Given the description of an element on the screen output the (x, y) to click on. 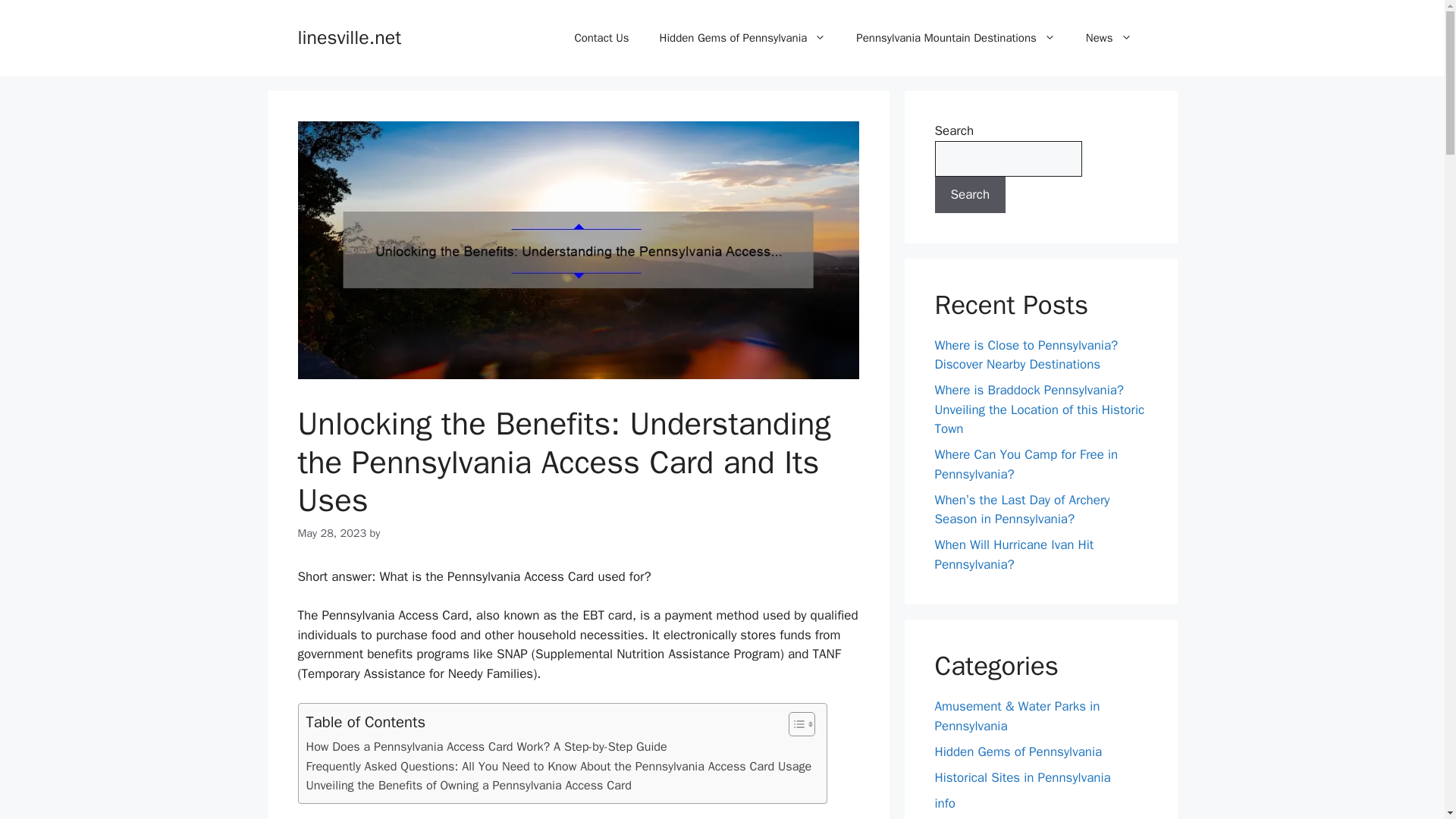
Hidden Gems of Pennsylvania (743, 37)
News (1108, 37)
linesville.net (349, 37)
Unveiling the Benefits of Owning a Pennsylvania Access Card (468, 785)
Contact Us (601, 37)
Pennsylvania Mountain Destinations (955, 37)
